Given the description of an element on the screen output the (x, y) to click on. 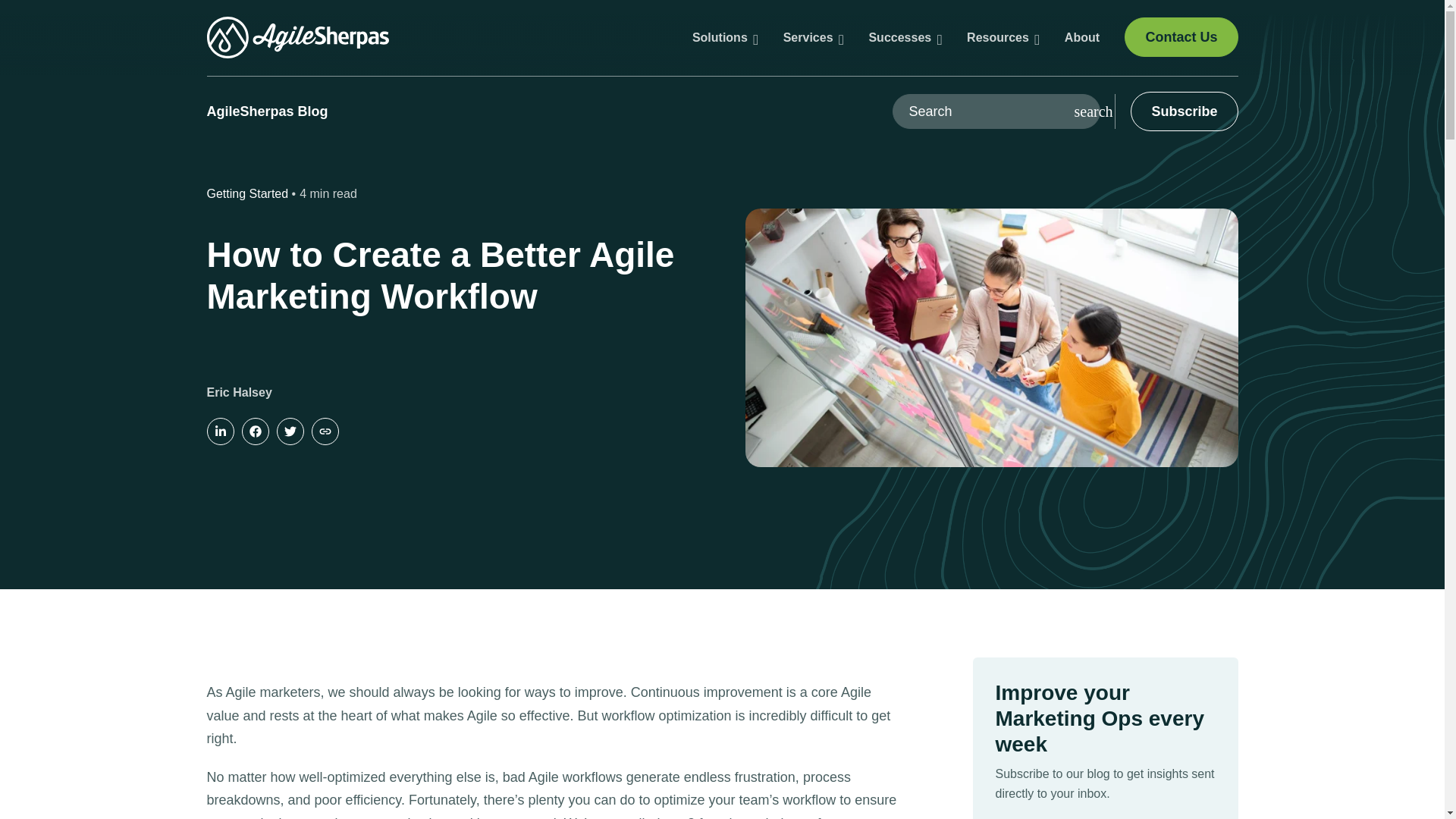
Solutions (724, 36)
AgileSherpas Blog (266, 111)
Resources (1002, 36)
Contact Us (1180, 36)
Share on Facebook (254, 431)
Tweet on Twitter (289, 431)
Services (813, 36)
Copy link (324, 431)
Share on LinkedIn (219, 431)
Successes (904, 36)
